Given the description of an element on the screen output the (x, y) to click on. 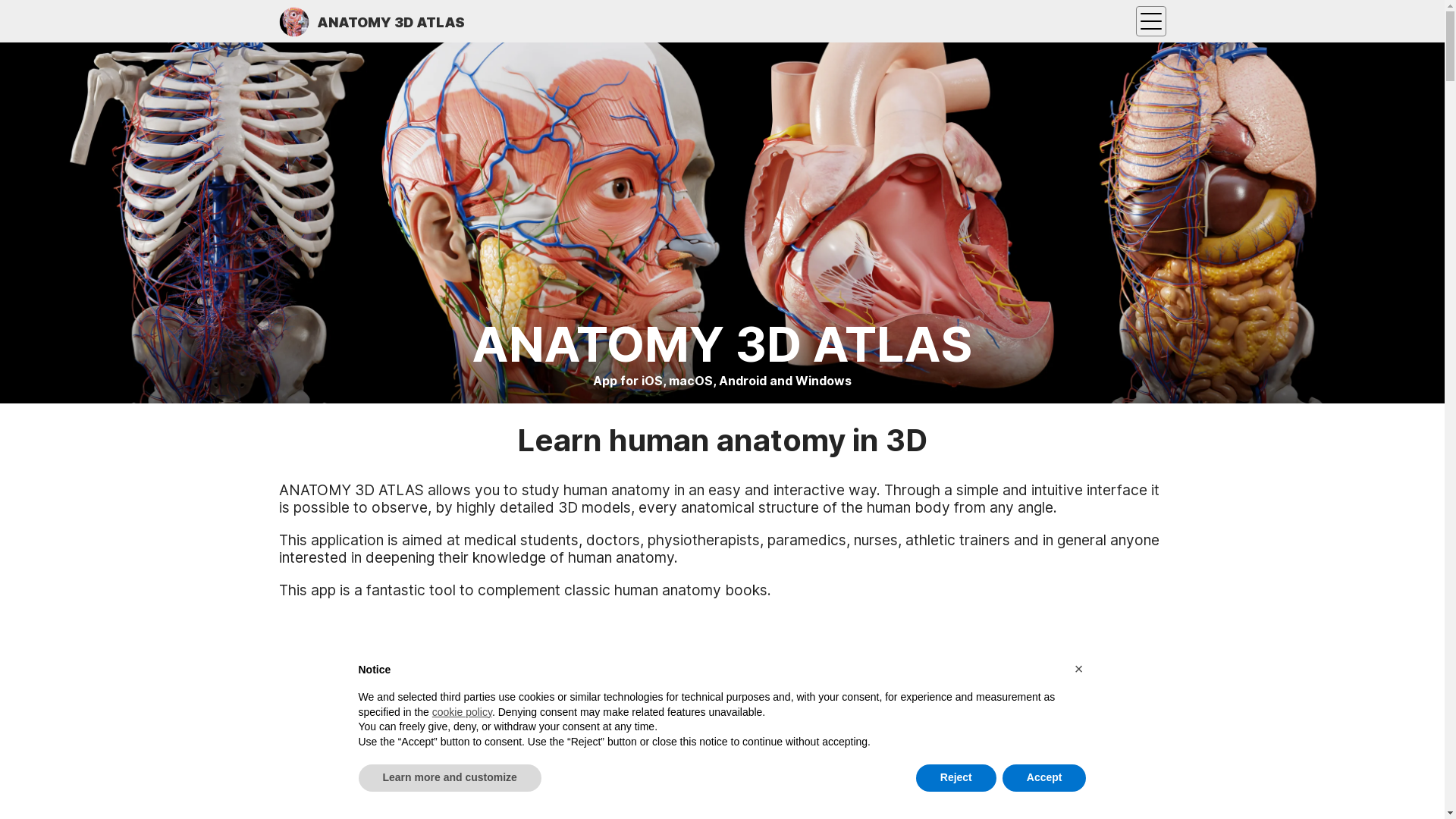
HMenu Element type: hover (1150, 21)
cookie policy Element type: text (462, 712)
Accept Element type: text (1044, 777)
Reject Element type: text (956, 777)
ANATOMY 3D ATLAS Element type: text (371, 21)
Learn more and customize Element type: text (448, 777)
